Given the description of an element on the screen output the (x, y) to click on. 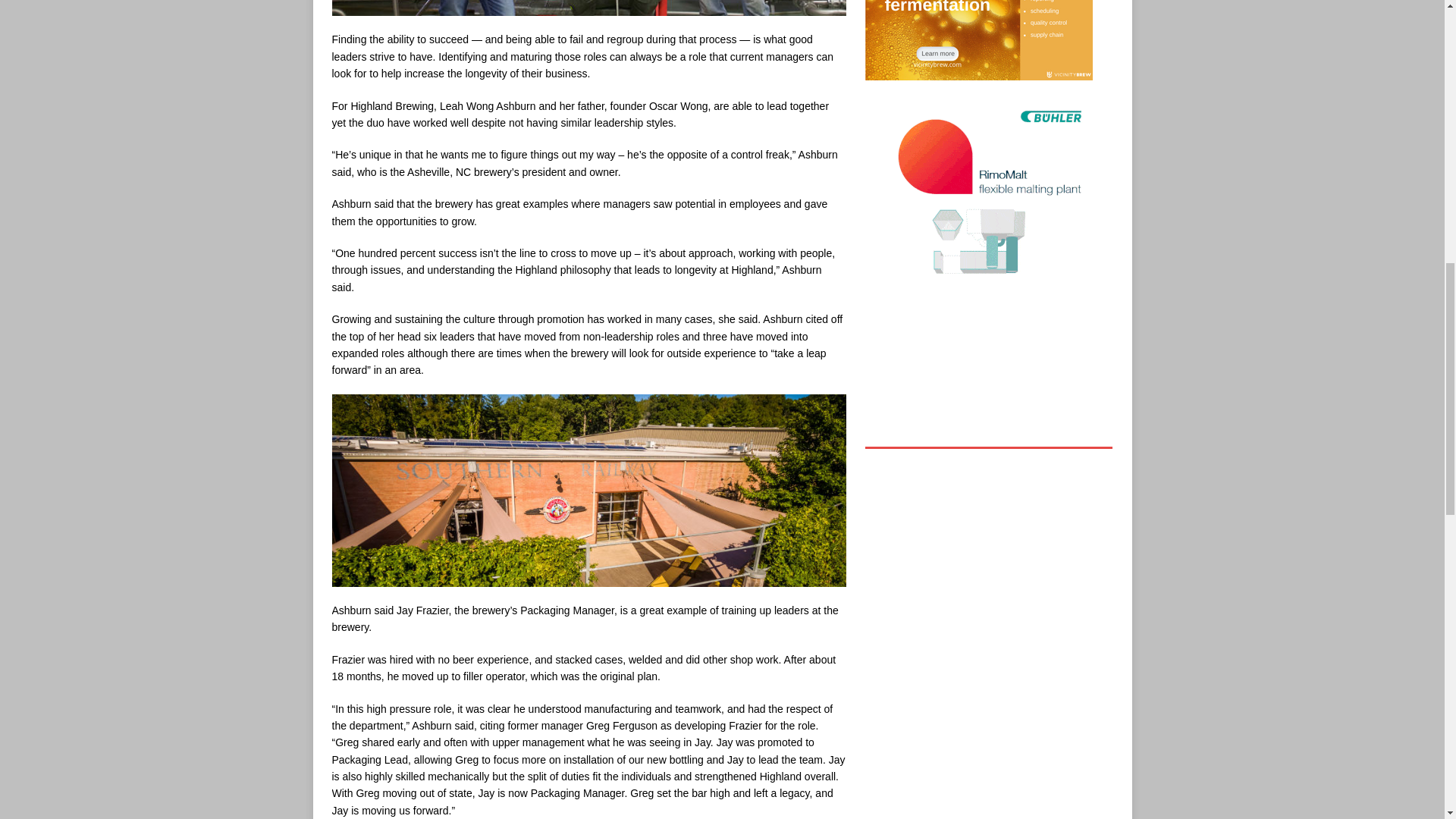
highlandbrewer-group-640x400 (588, 8)
